Given the description of an element on the screen output the (x, y) to click on. 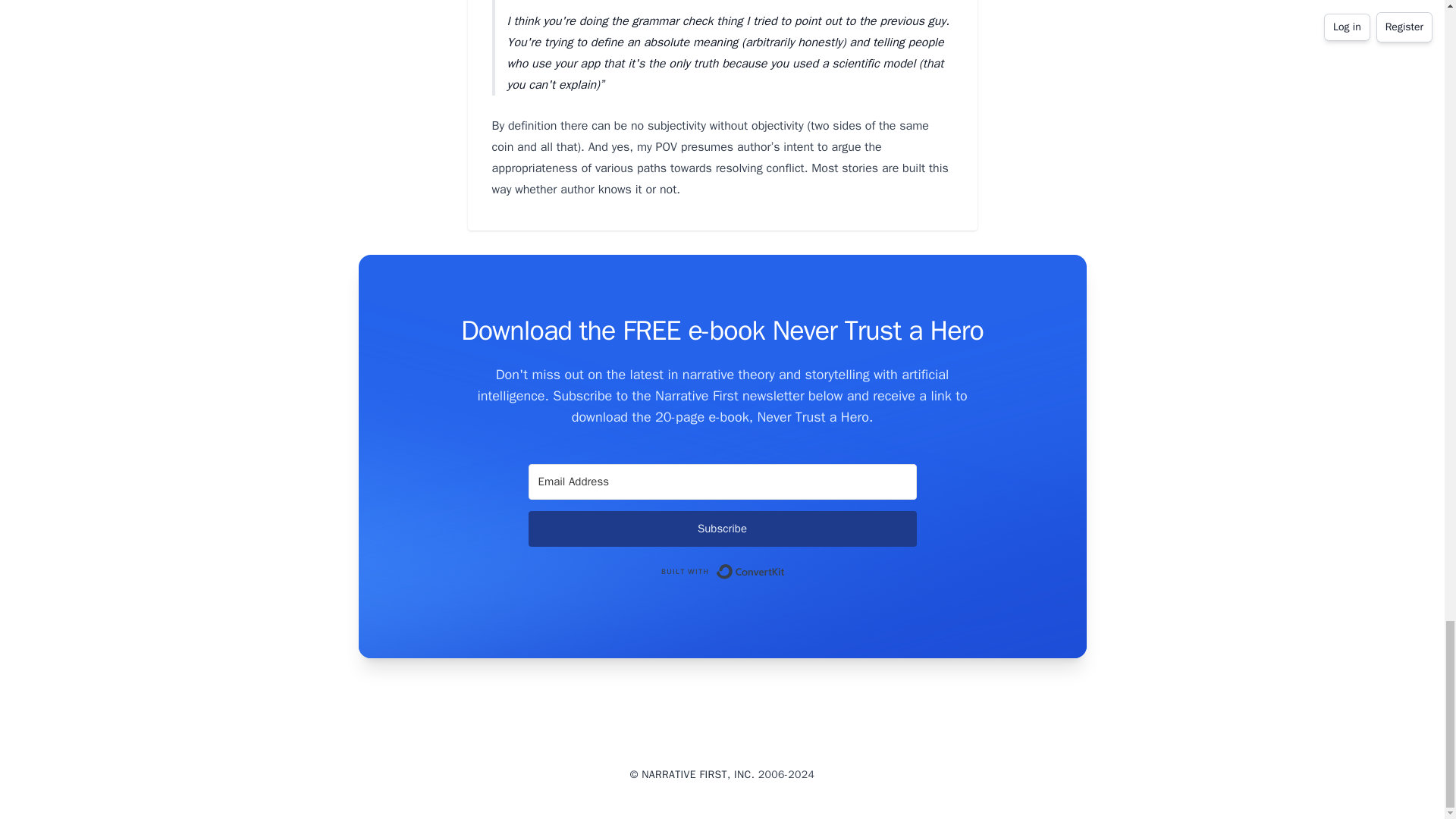
Subscribe (721, 529)
Built with ConvertKit (722, 571)
NARRATIVE FIRST, INC. (698, 774)
